Given the description of an element on the screen output the (x, y) to click on. 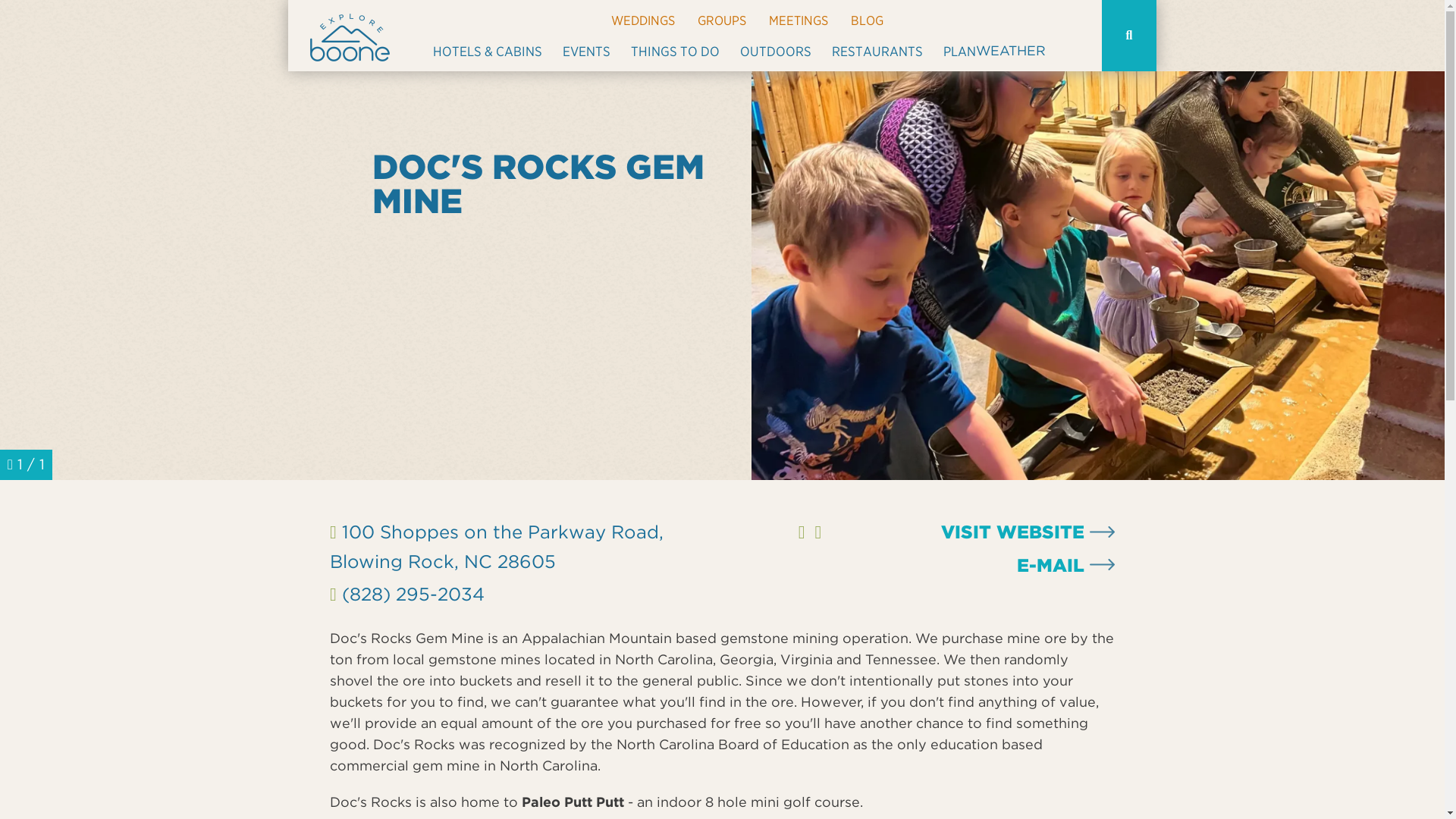
THINGS TO DO (674, 55)
MEETINGS (798, 21)
EVENTS (586, 55)
WEDDINGS (643, 21)
BLOG (866, 21)
GROUPS (721, 21)
